Given the description of an element on the screen output the (x, y) to click on. 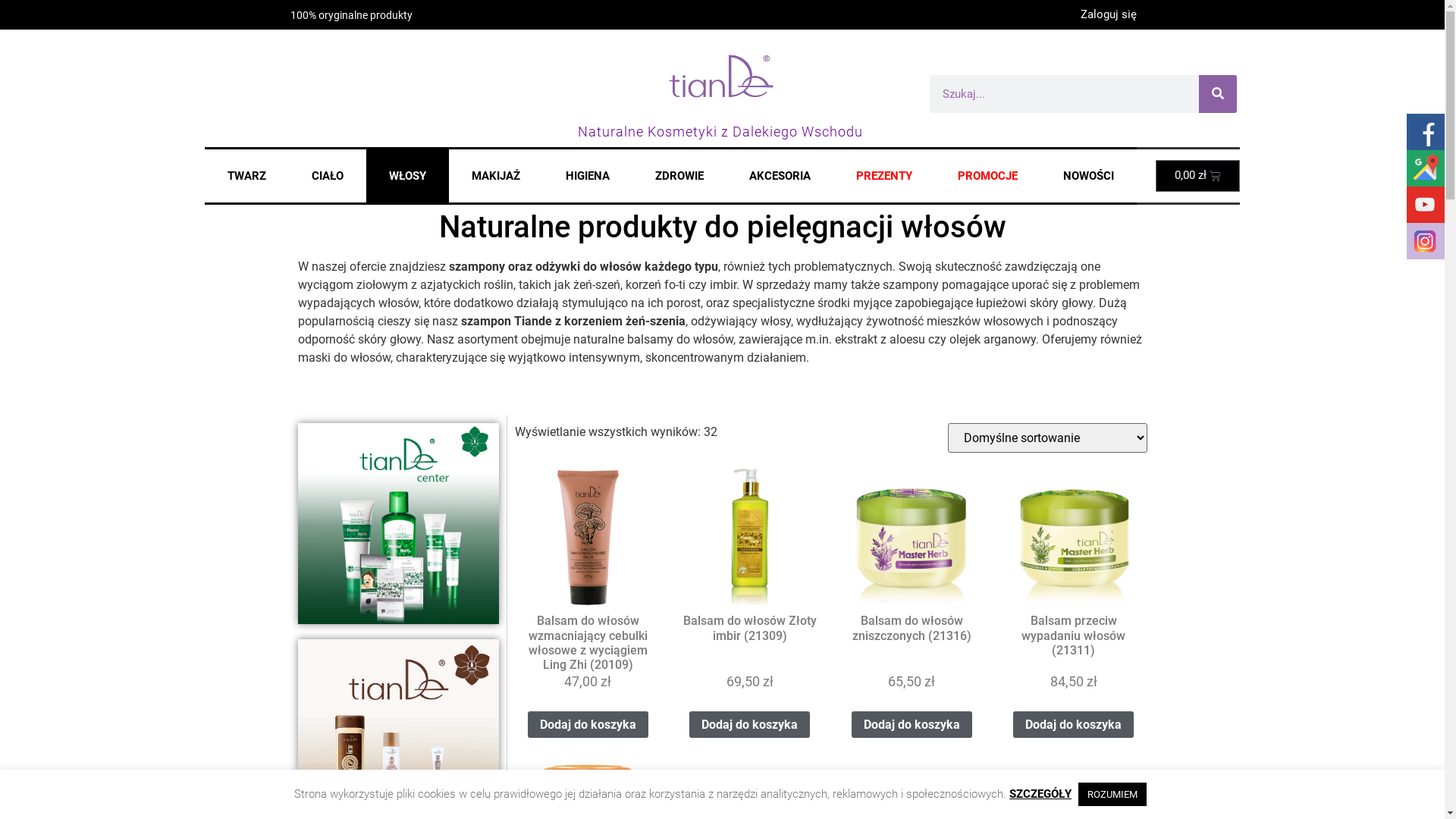
TWARZ Element type: text (246, 175)
AKCESORIA Element type: text (779, 175)
HIGIENA Element type: text (587, 175)
PROMOCJE Element type: text (986, 175)
PREZENTY Element type: text (883, 175)
ROZUMIEM Element type: text (1112, 794)
Dodaj do koszyka Element type: text (1073, 724)
Dodaj do koszyka Element type: text (911, 724)
ZDROWIE Element type: text (679, 175)
Dodaj do koszyka Element type: text (749, 724)
Dodaj do koszyka Element type: text (587, 724)
